Given the description of an element on the screen output the (x, y) to click on. 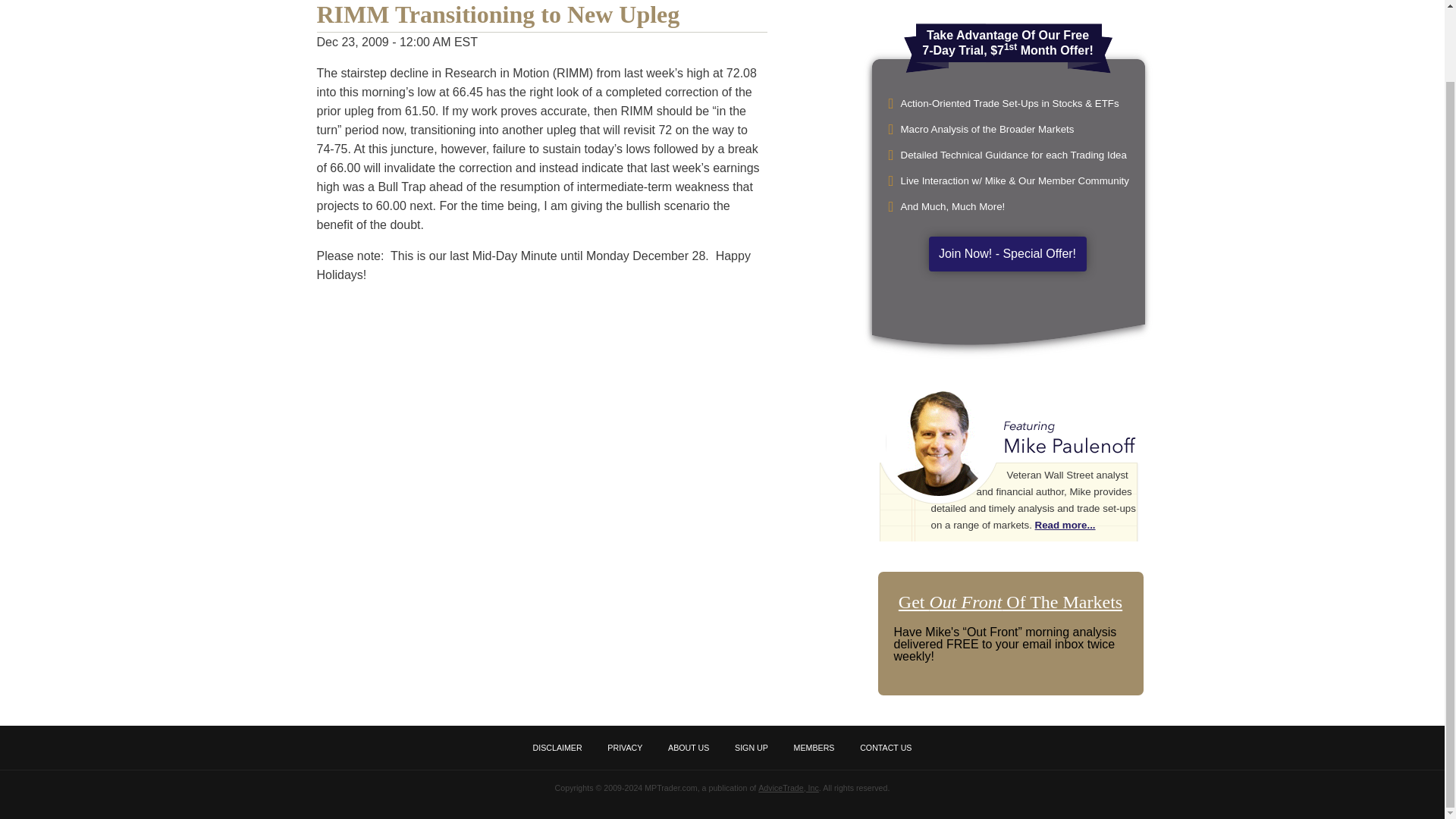
ABOUT US (688, 747)
AdviceTrade, Inc (788, 787)
CONTACT US (885, 747)
MEMBERS (813, 747)
Read more... (1065, 524)
Join Now! - Special Offer! (1007, 253)
Get Out Front Of The Markets (1010, 601)
DISCLAIMER (557, 747)
